Given the description of an element on the screen output the (x, y) to click on. 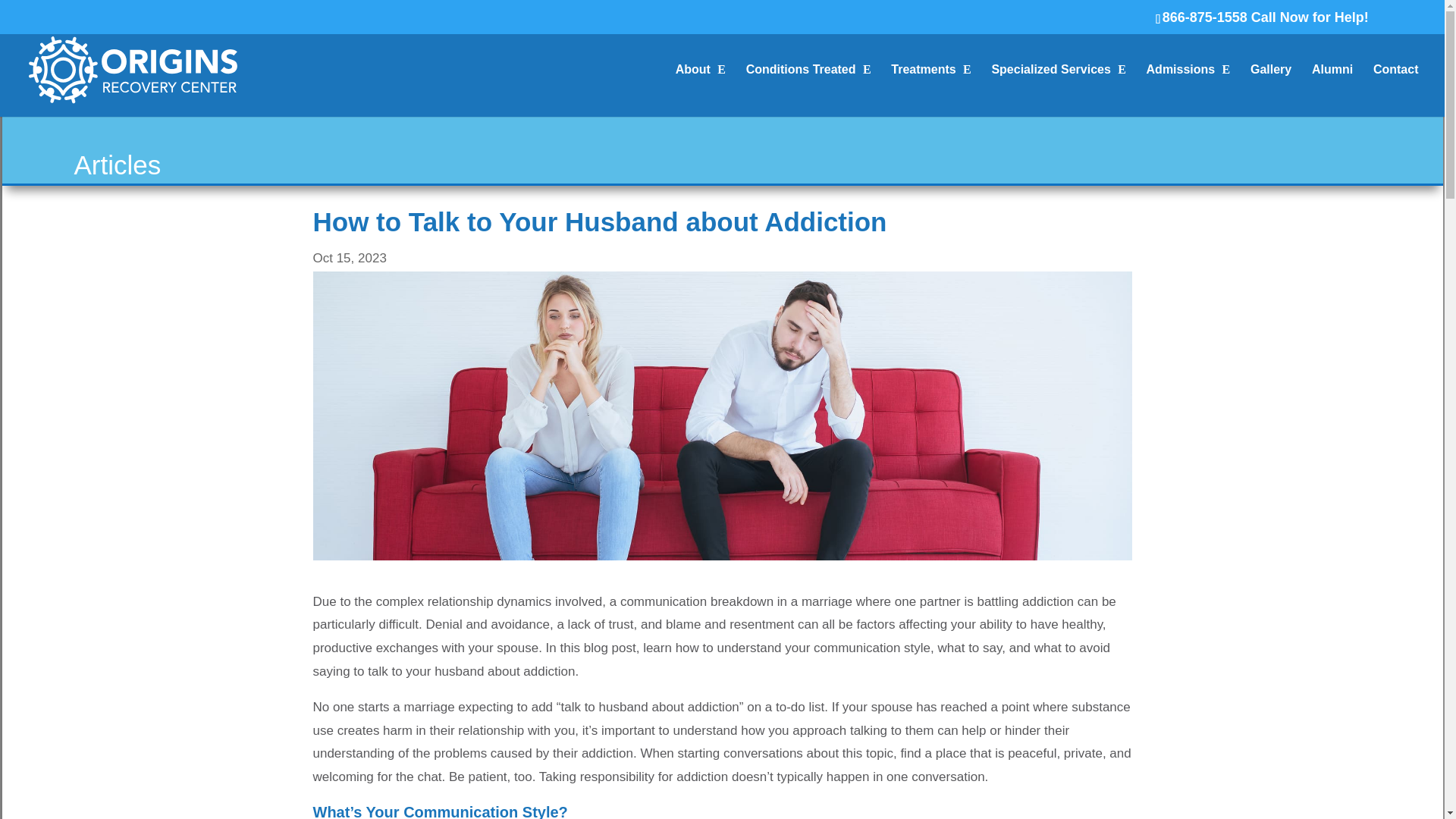
About (700, 90)
866-875-1558 (1204, 16)
Specialized Services (1058, 90)
Conditions Treated (807, 90)
Treatments (931, 90)
